Given the description of an element on the screen output the (x, y) to click on. 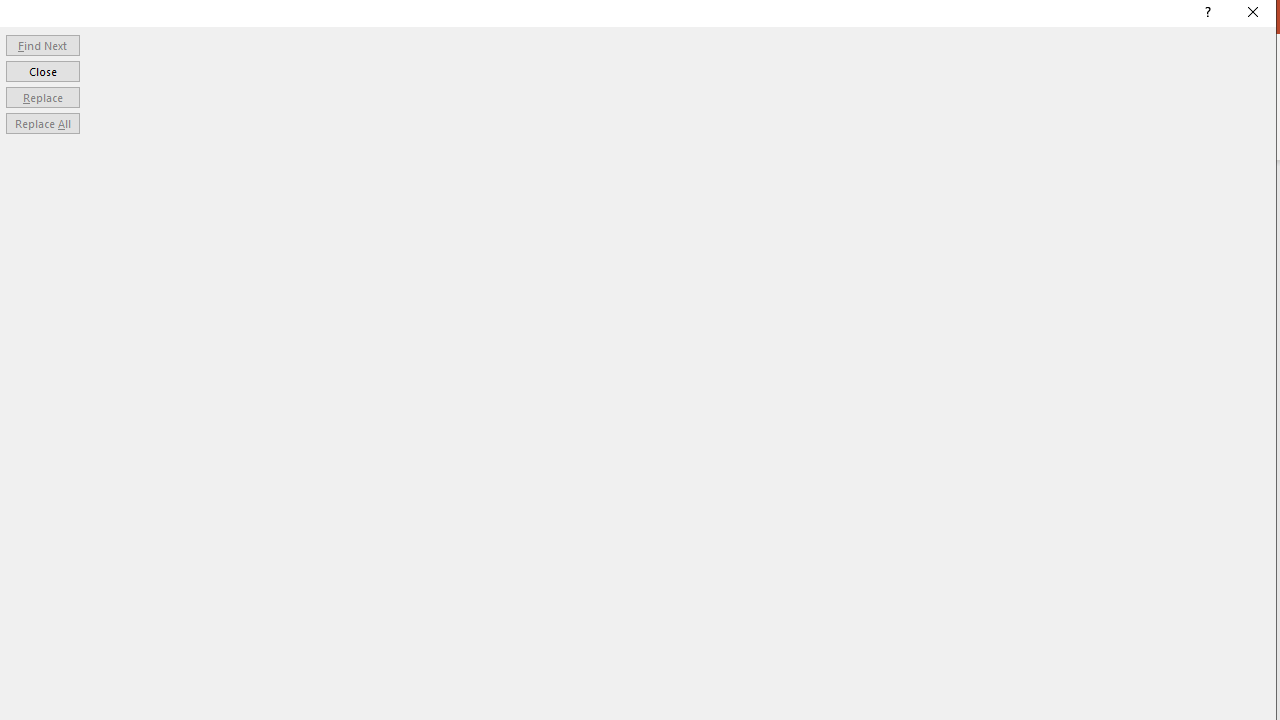
Context help (1206, 14)
Find Next (42, 44)
Replace All (42, 123)
Replace (42, 96)
